Given the description of an element on the screen output the (x, y) to click on. 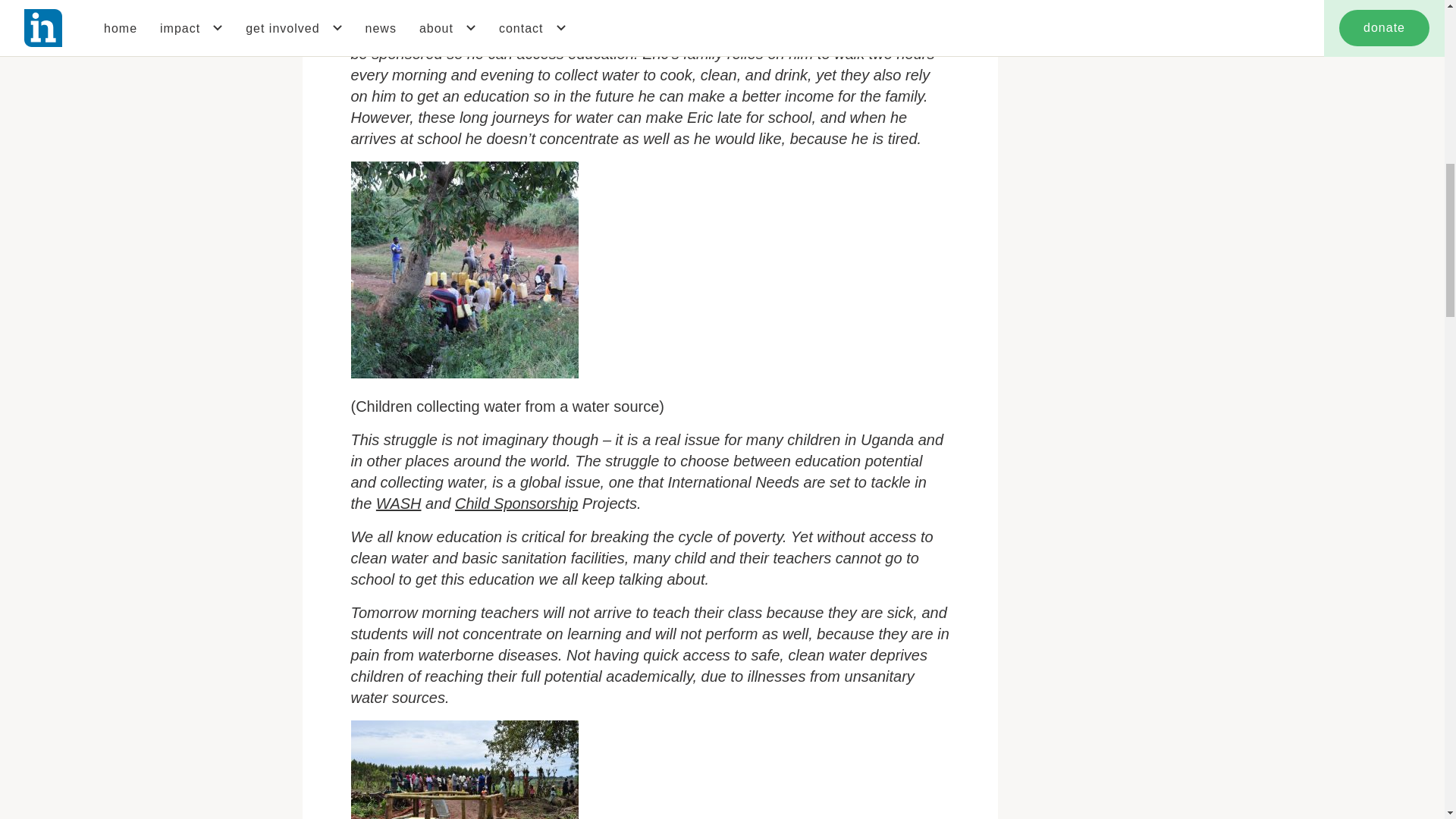
WASH (398, 503)
Child Sponsorship (516, 503)
